Given the description of an element on the screen output the (x, y) to click on. 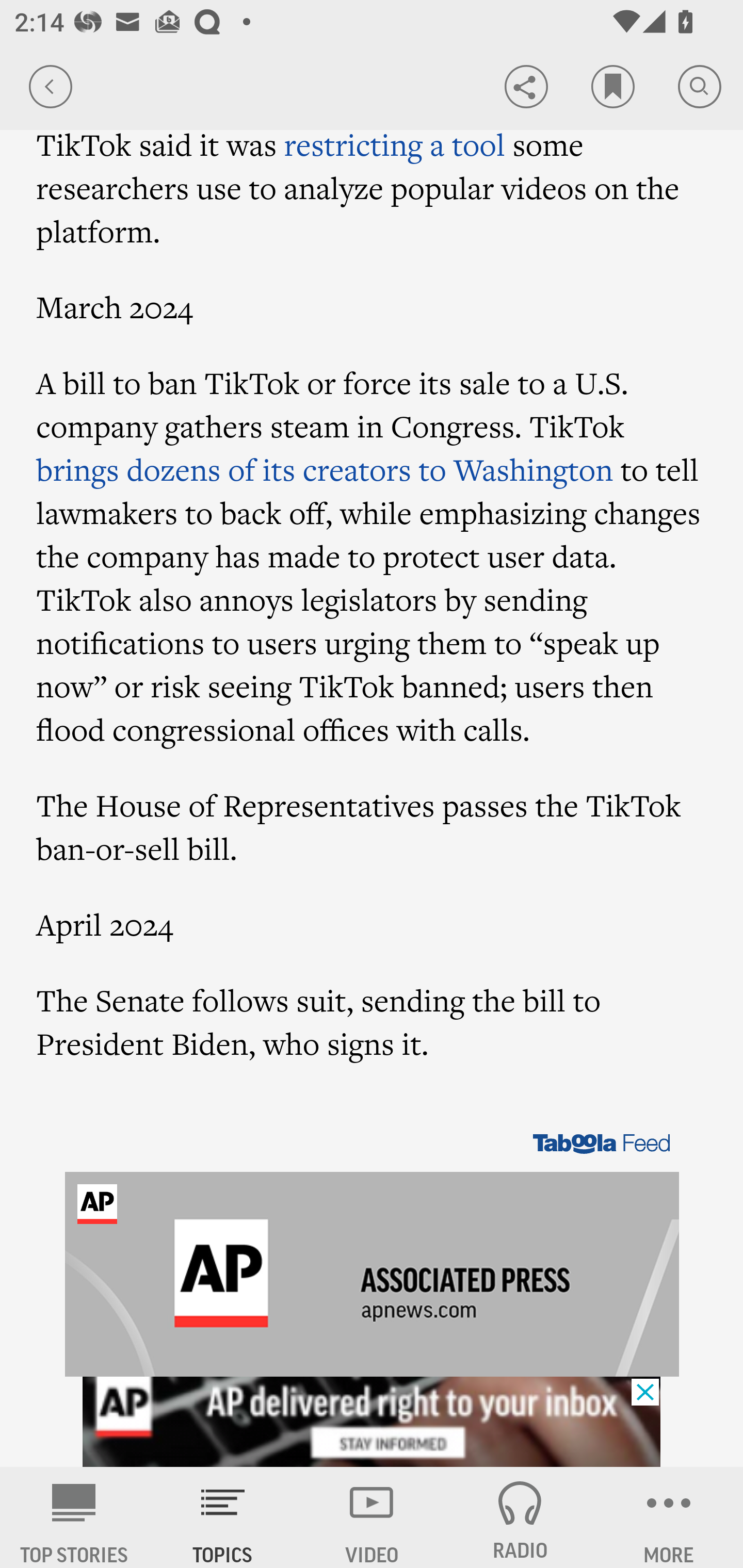
restricting a tool (394, 144)
brings dozens of its creators to Washington (324, 469)
AP News TOP STORIES (74, 1517)
TOPICS (222, 1517)
VIDEO (371, 1517)
RADIO (519, 1517)
MORE (668, 1517)
